Given the description of an element on the screen output the (x, y) to click on. 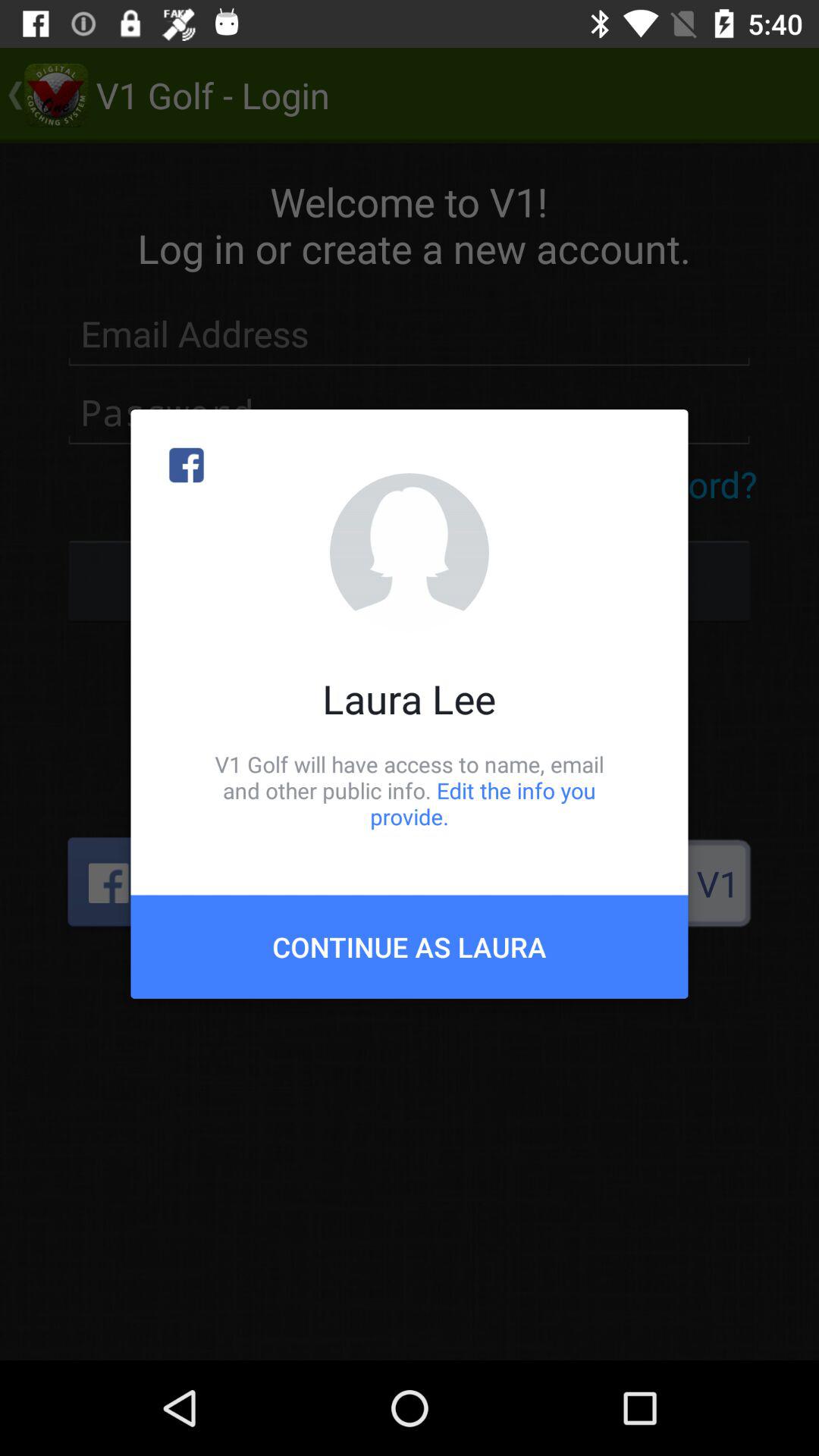
click the continue as laura icon (409, 946)
